Given the description of an element on the screen output the (x, y) to click on. 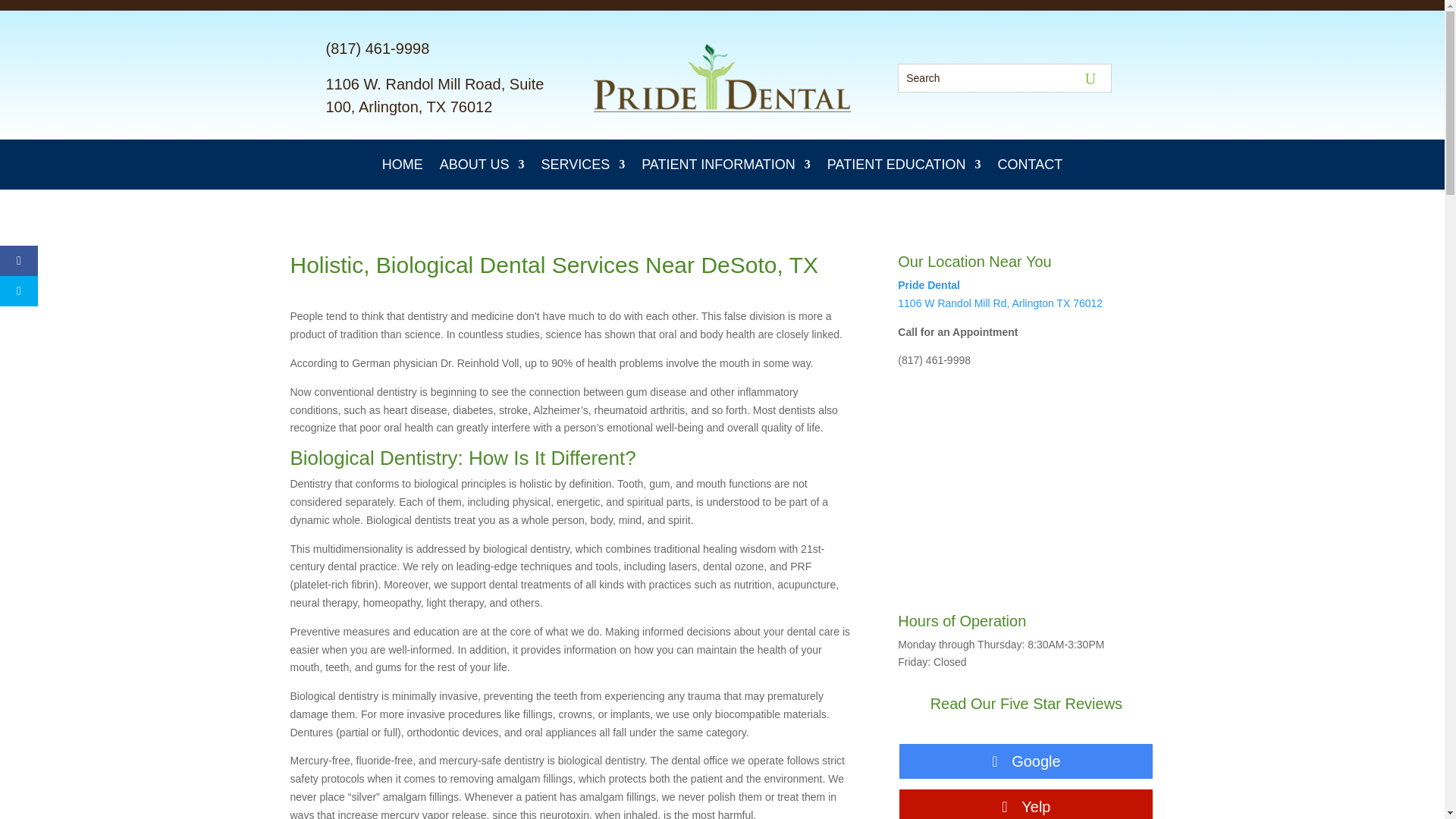
PATIENT INFORMATION (726, 167)
CONTACT (1029, 167)
PATIENT EDUCATION (904, 167)
SERVICES (582, 167)
Search (21, 13)
logo (722, 77)
ABOUT US (481, 167)
HOME (402, 167)
